Given the description of an element on the screen output the (x, y) to click on. 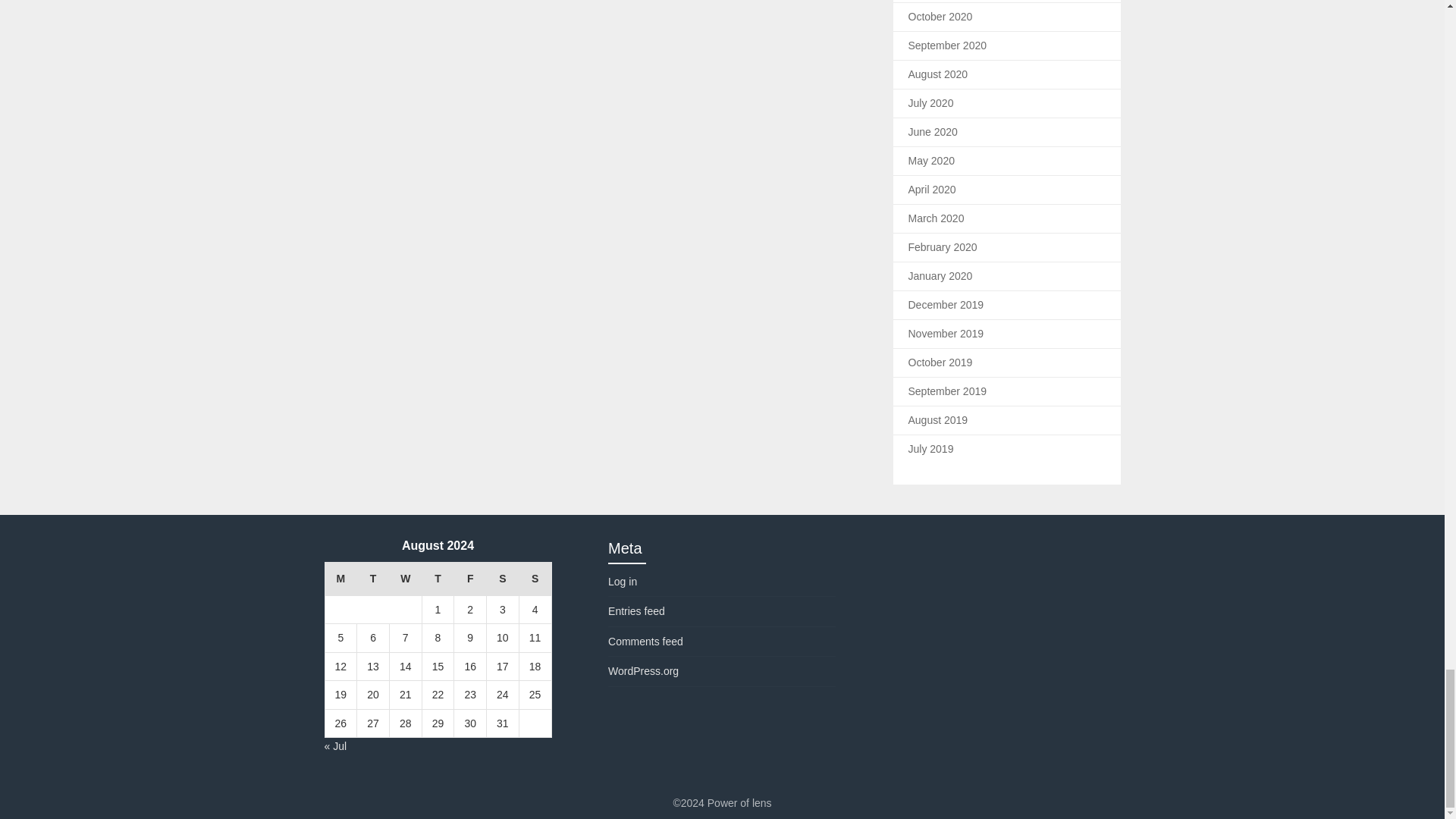
Monday (340, 579)
Friday (470, 579)
Sunday (534, 579)
Saturday (502, 579)
Thursday (438, 579)
Wednesday (405, 579)
Tuesday (373, 579)
